Given the description of an element on the screen output the (x, y) to click on. 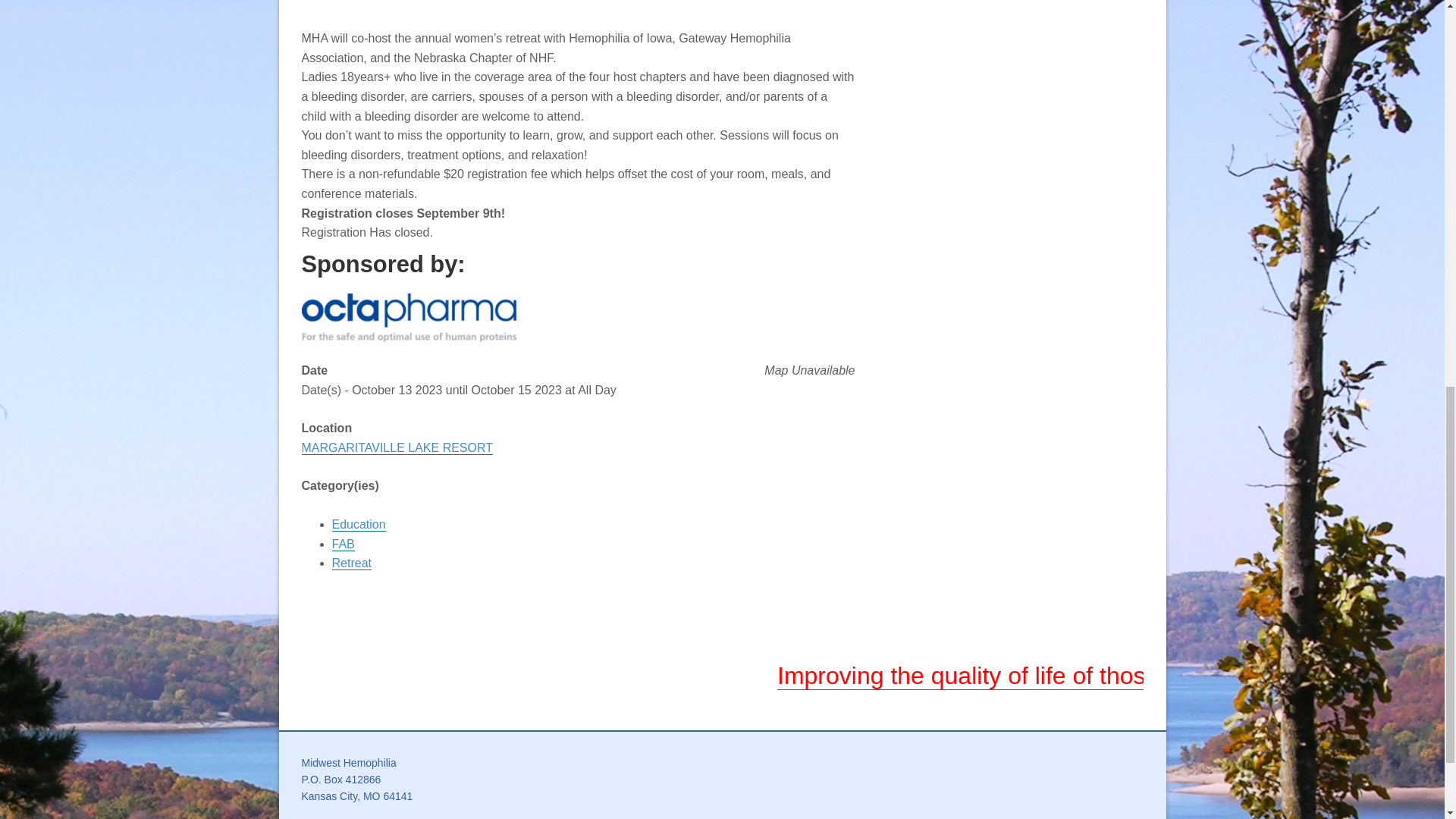
Retreat (351, 563)
Education (358, 524)
FAB (343, 544)
MARGARITAVILLE LAKE RESORT (397, 448)
